Given the description of an element on the screen output the (x, y) to click on. 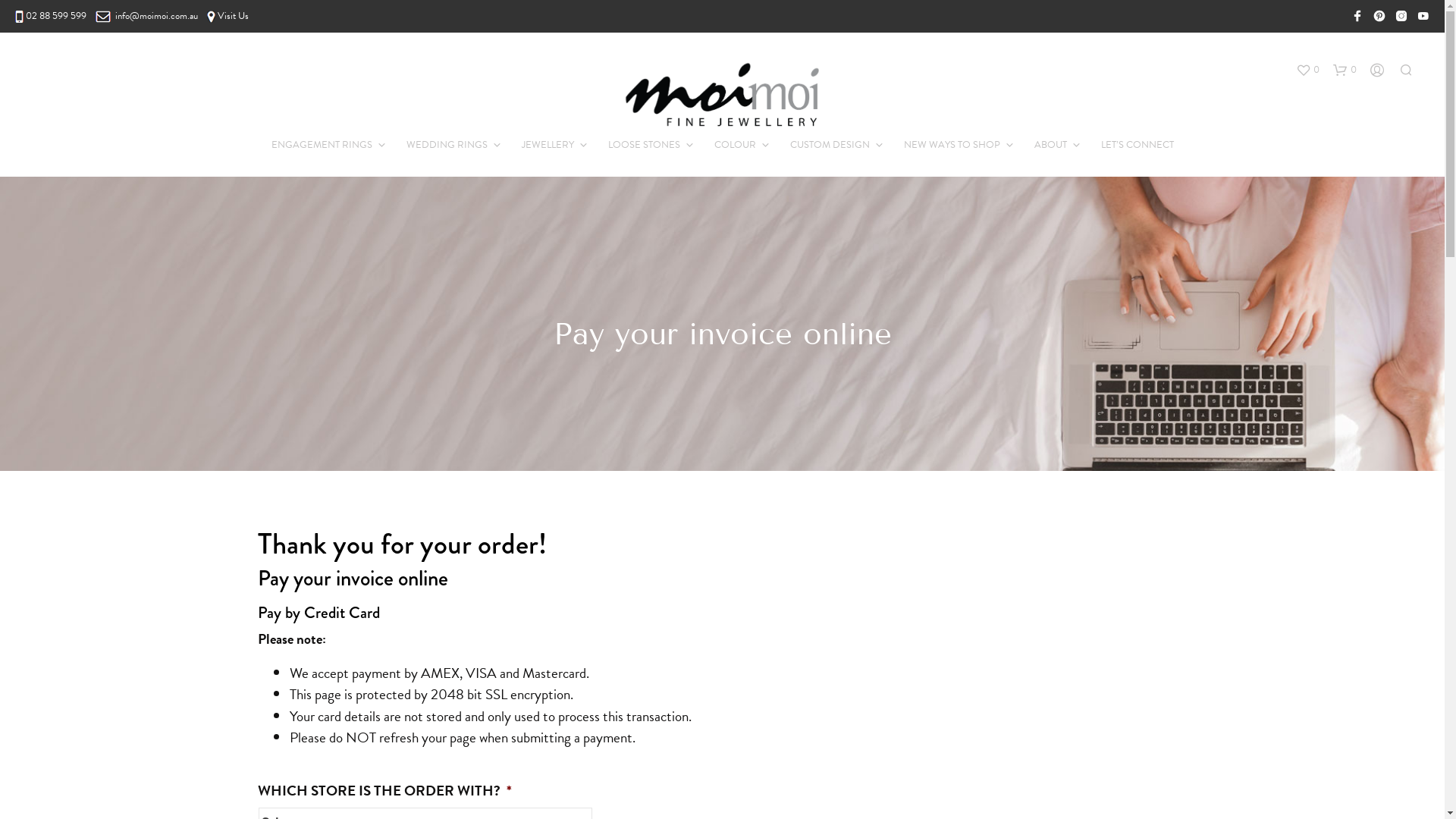
NEW WAYS TO SHOP Element type: text (950, 145)
ENGAGEMENT RINGS Element type: text (320, 145)
Visit Us Element type: text (227, 15)
LOOSE STONES Element type: text (643, 145)
ABOUT Element type: text (1049, 145)
0 Element type: text (1344, 70)
  info@moimoi.com.au Element type: text (146, 15)
CUSTOM DESIGN Element type: text (829, 145)
JEWELLERY Element type: text (546, 145)
COLOUR Element type: text (734, 145)
WEDDING RINGS Element type: text (446, 145)
0 Element type: text (1307, 70)
02 88 599 599 Element type: text (55, 15)
